Given the description of an element on the screen output the (x, y) to click on. 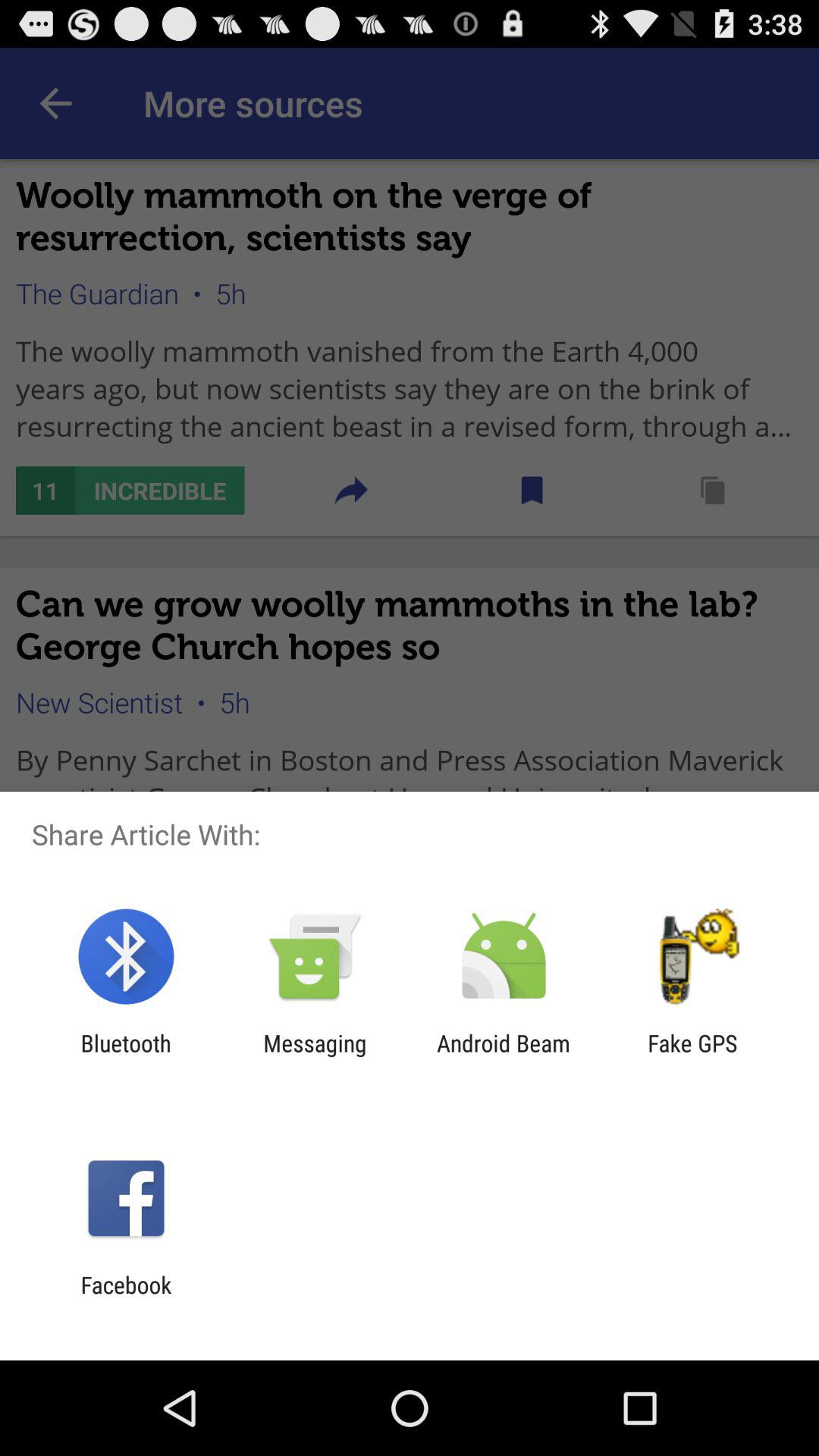
select icon next to fake gps icon (503, 1056)
